Given the description of an element on the screen output the (x, y) to click on. 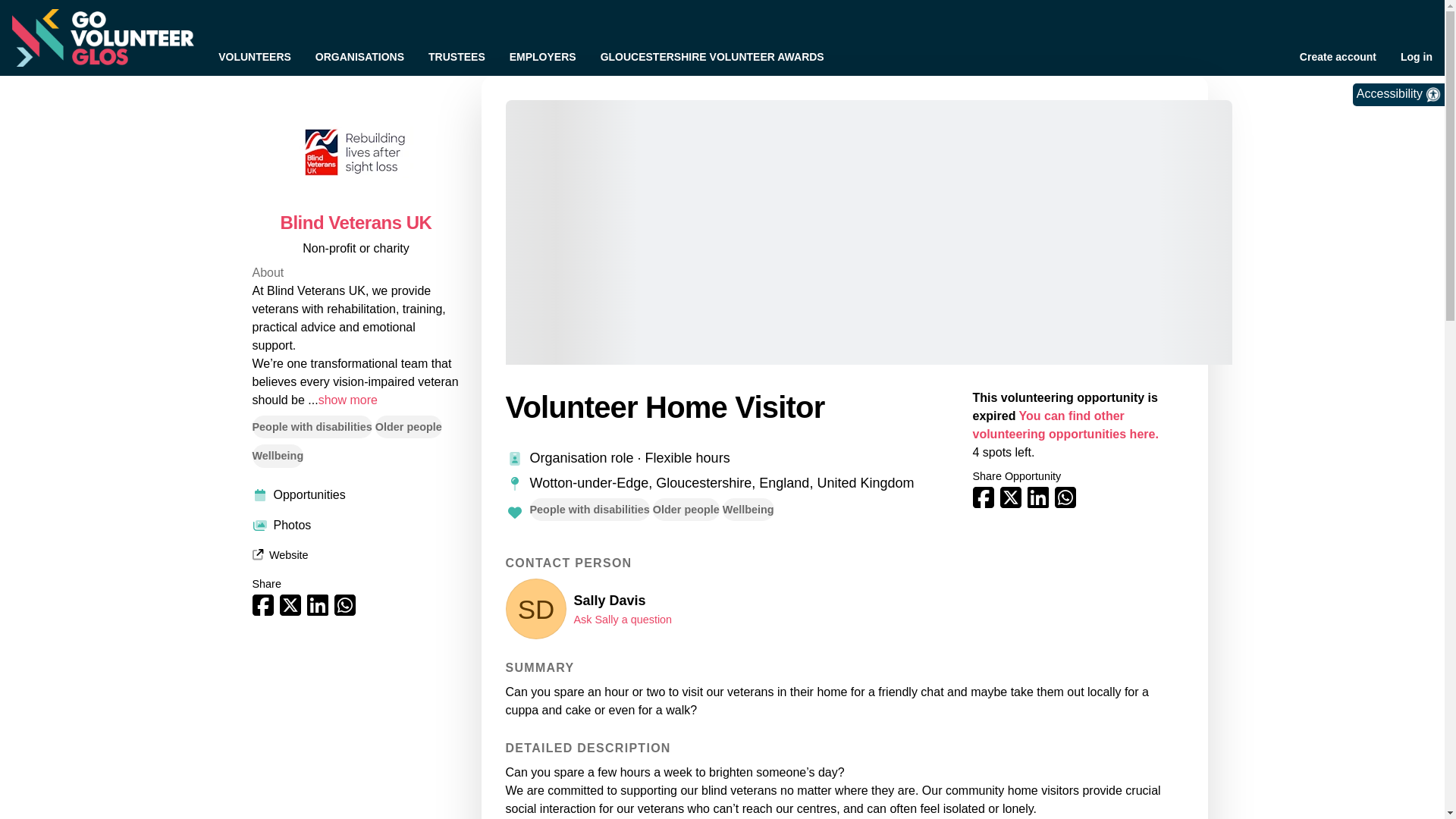
Log in (1416, 56)
Opportunities (355, 495)
ORGANISATIONS (359, 56)
VOLUNTEERS (254, 56)
You can find other volunteering opportunities here. (1064, 424)
Create account (1337, 56)
Website (279, 554)
EMPLOYERS (542, 56)
